Given the description of an element on the screen output the (x, y) to click on. 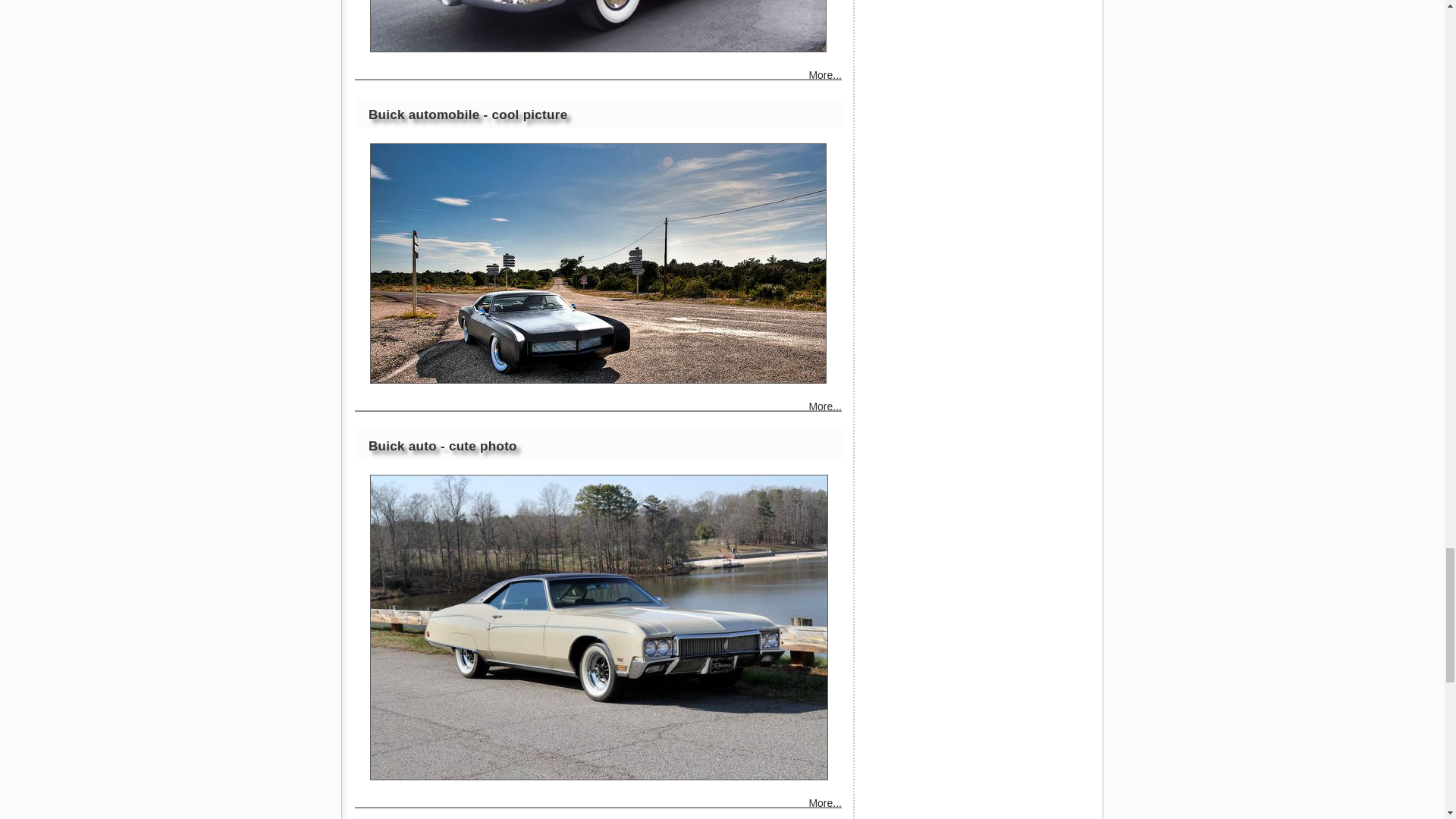
Buick automobile - cool picture (598, 263)
Buick automobile - cute image (598, 26)
